Given the description of an element on the screen output the (x, y) to click on. 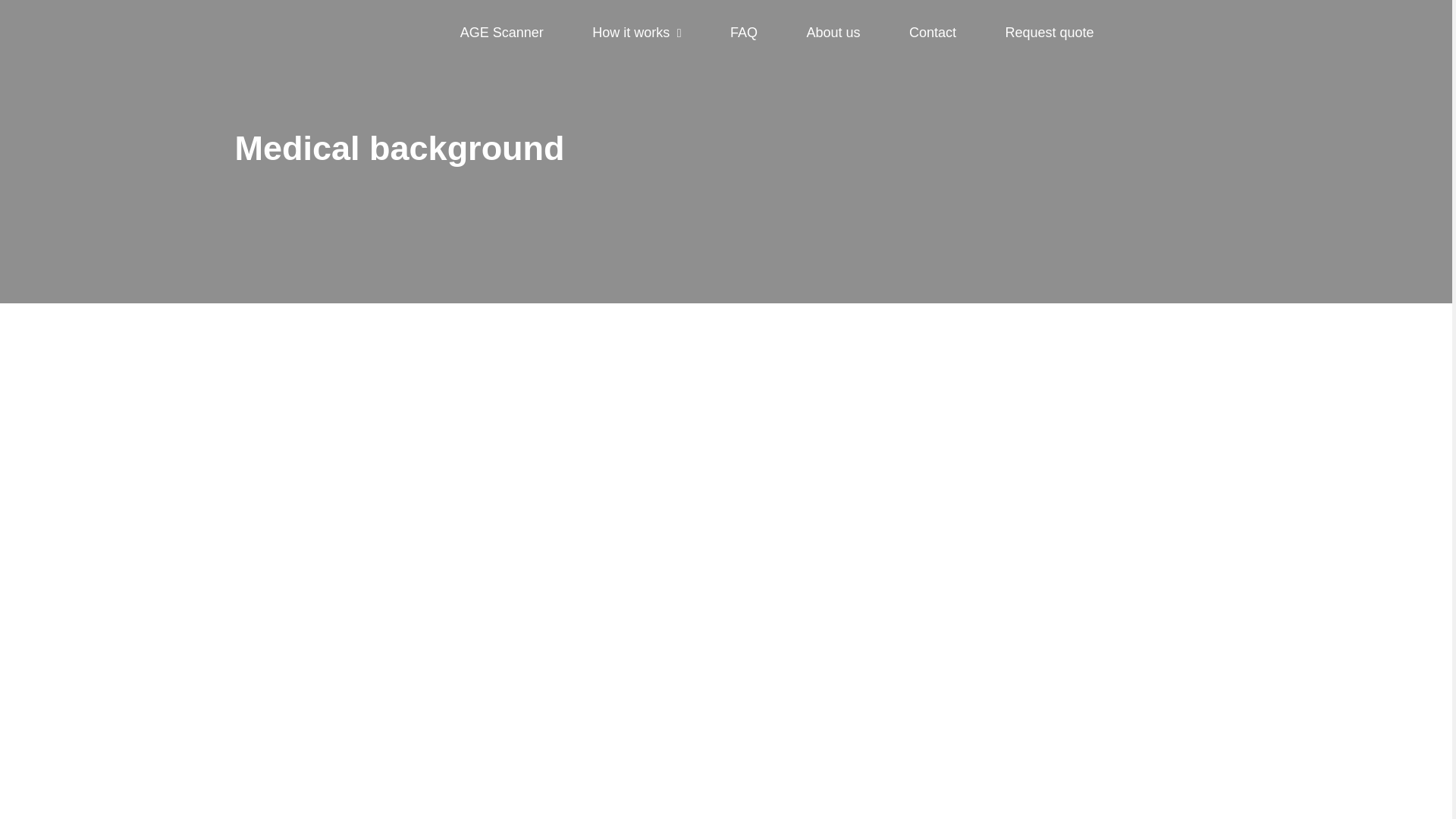
About us (833, 33)
Request quote (1048, 33)
How it works (630, 33)
AGE Scanner (501, 33)
FAQ (743, 33)
Contact (932, 33)
